Given the description of an element on the screen output the (x, y) to click on. 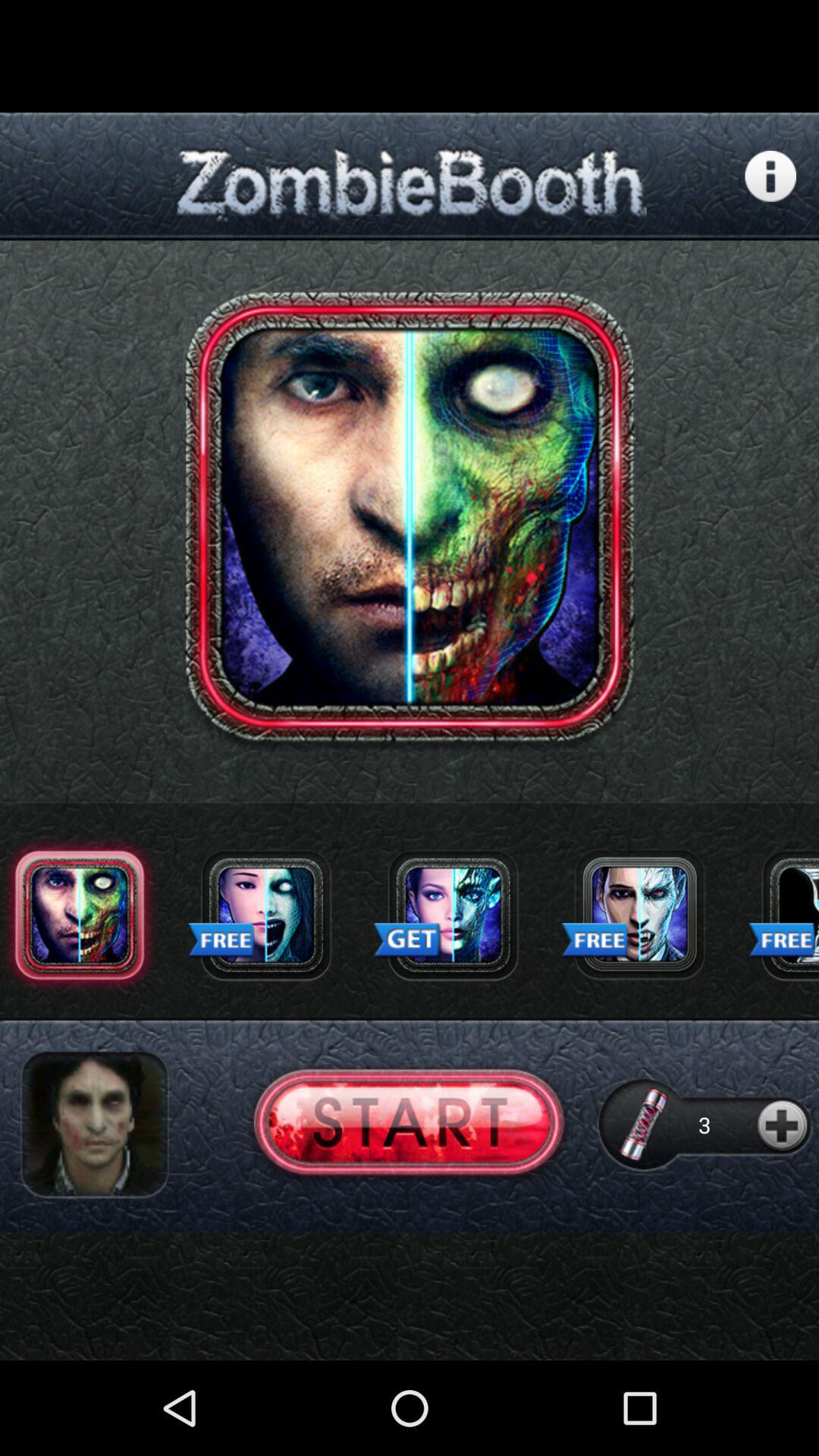
choose (639, 914)
